Given the description of an element on the screen output the (x, y) to click on. 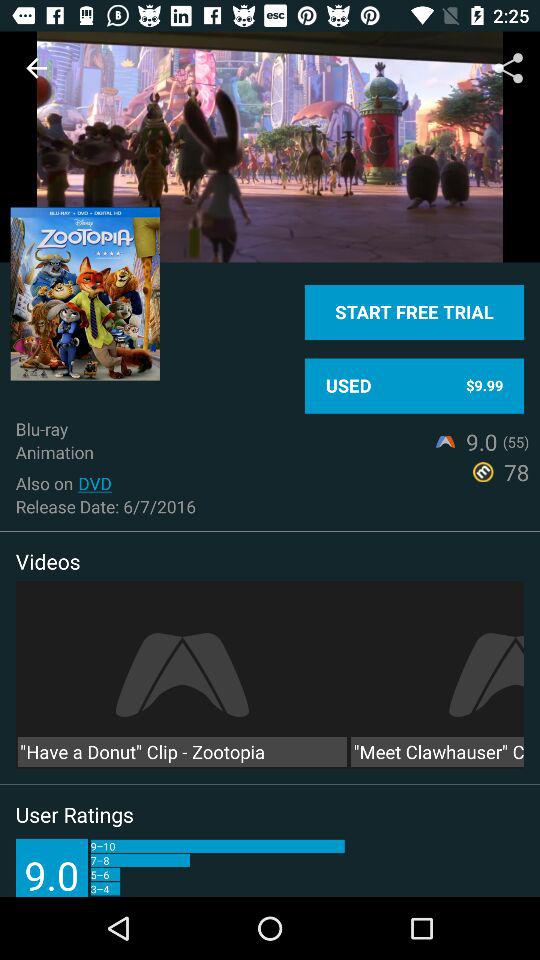
turn off the icon to the right of also on item (94, 483)
